Given the description of an element on the screen output the (x, y) to click on. 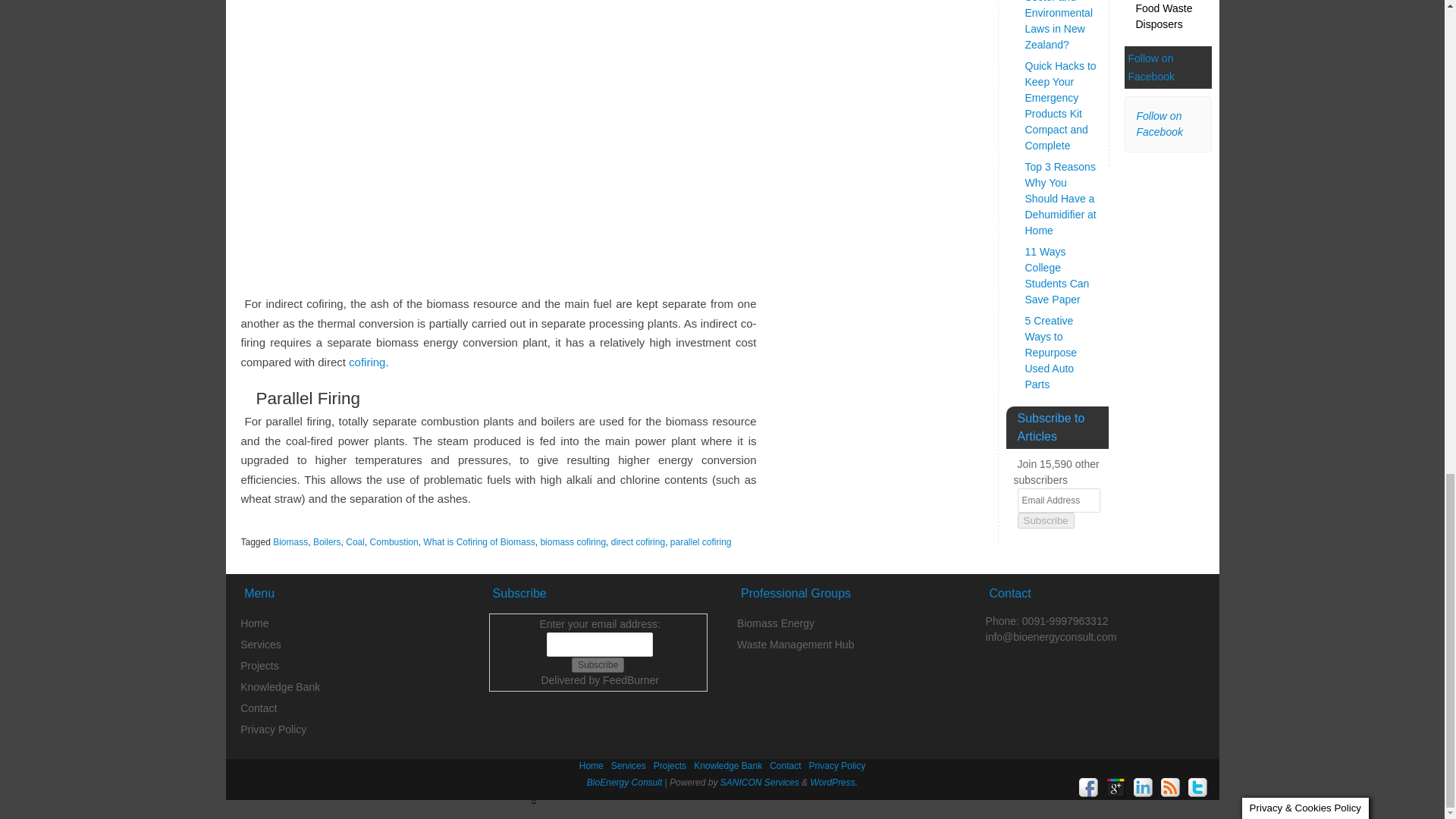
direct cofiring (638, 542)
cofiring (367, 361)
Subscribe (598, 664)
Biomass (290, 542)
Boilers (326, 542)
parallel cofiring (700, 542)
Combustion (394, 542)
biomass cofiring (572, 542)
Coal (355, 542)
What is Cofiring of Biomass (478, 542)
